Given the description of an element on the screen output the (x, y) to click on. 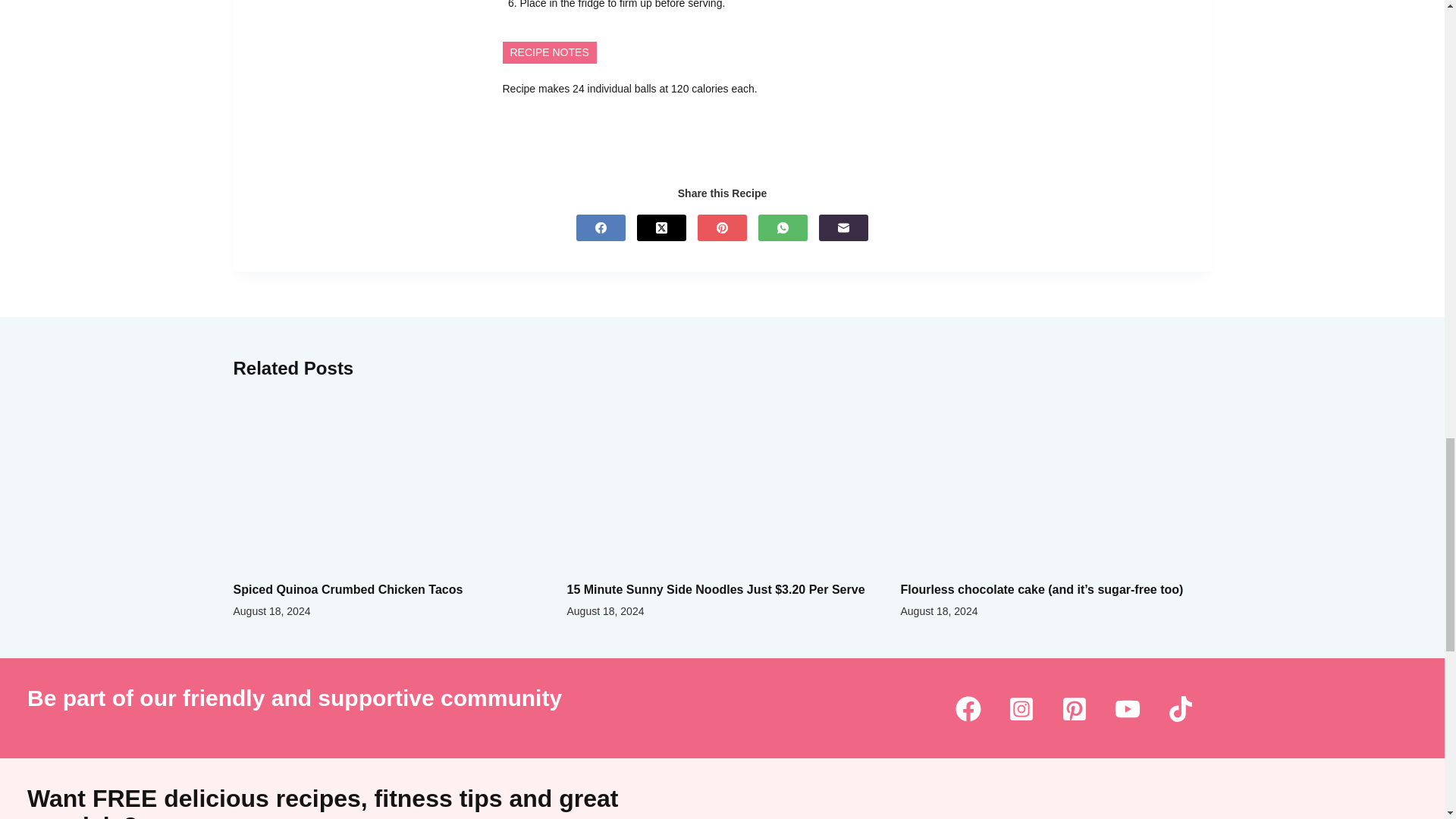
TikTok (1180, 709)
Pinterest (1074, 709)
You Tube (1127, 709)
Facebook (968, 709)
Instagram (1020, 709)
